Given the description of an element on the screen output the (x, y) to click on. 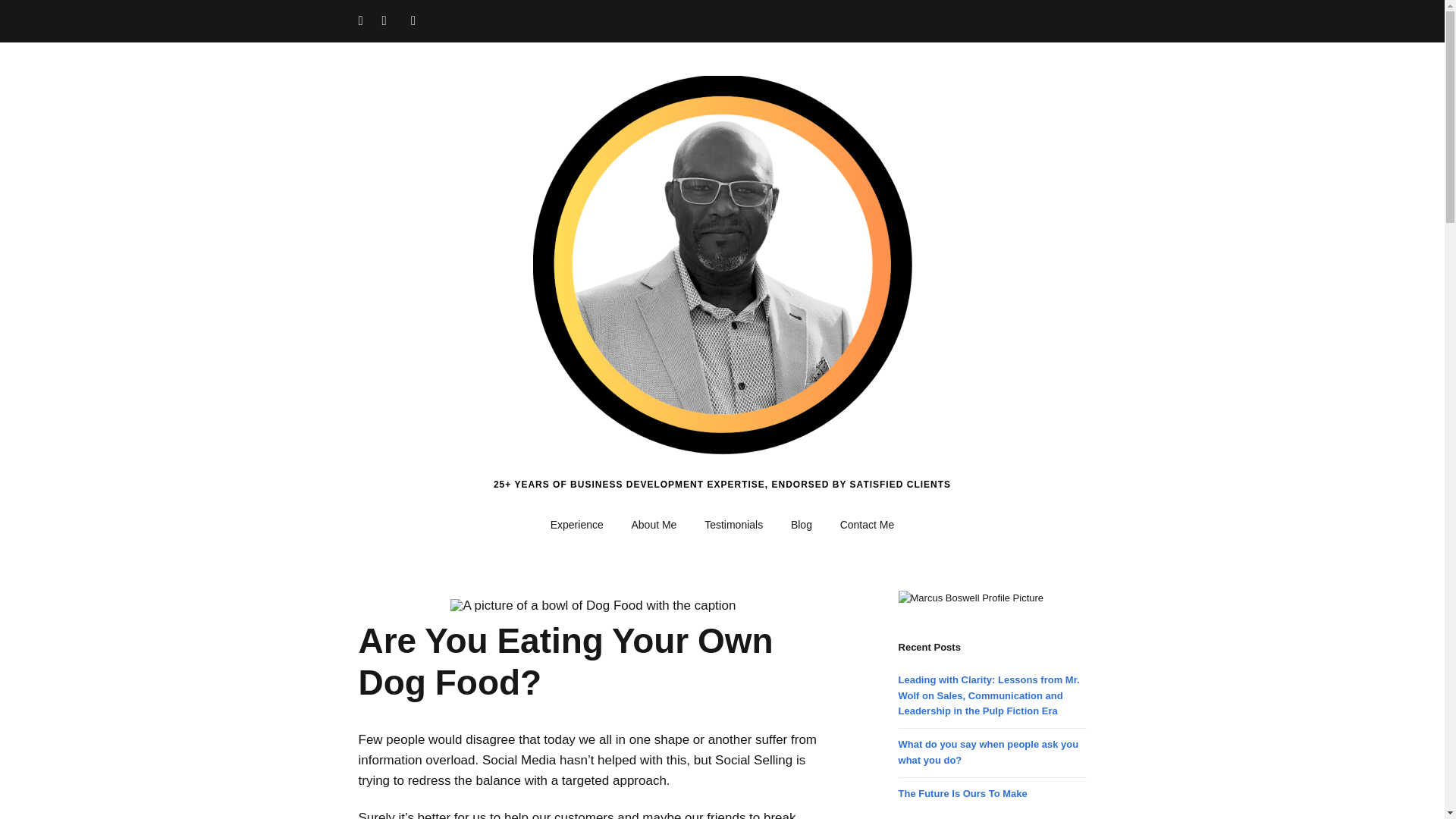
Experience (576, 525)
Blog (801, 525)
Testimonials (733, 525)
What do you say when people ask you what you do? (988, 751)
Contact Me (867, 525)
The Future Is Ours To Make (962, 793)
About Me (653, 525)
